Given the description of an element on the screen output the (x, y) to click on. 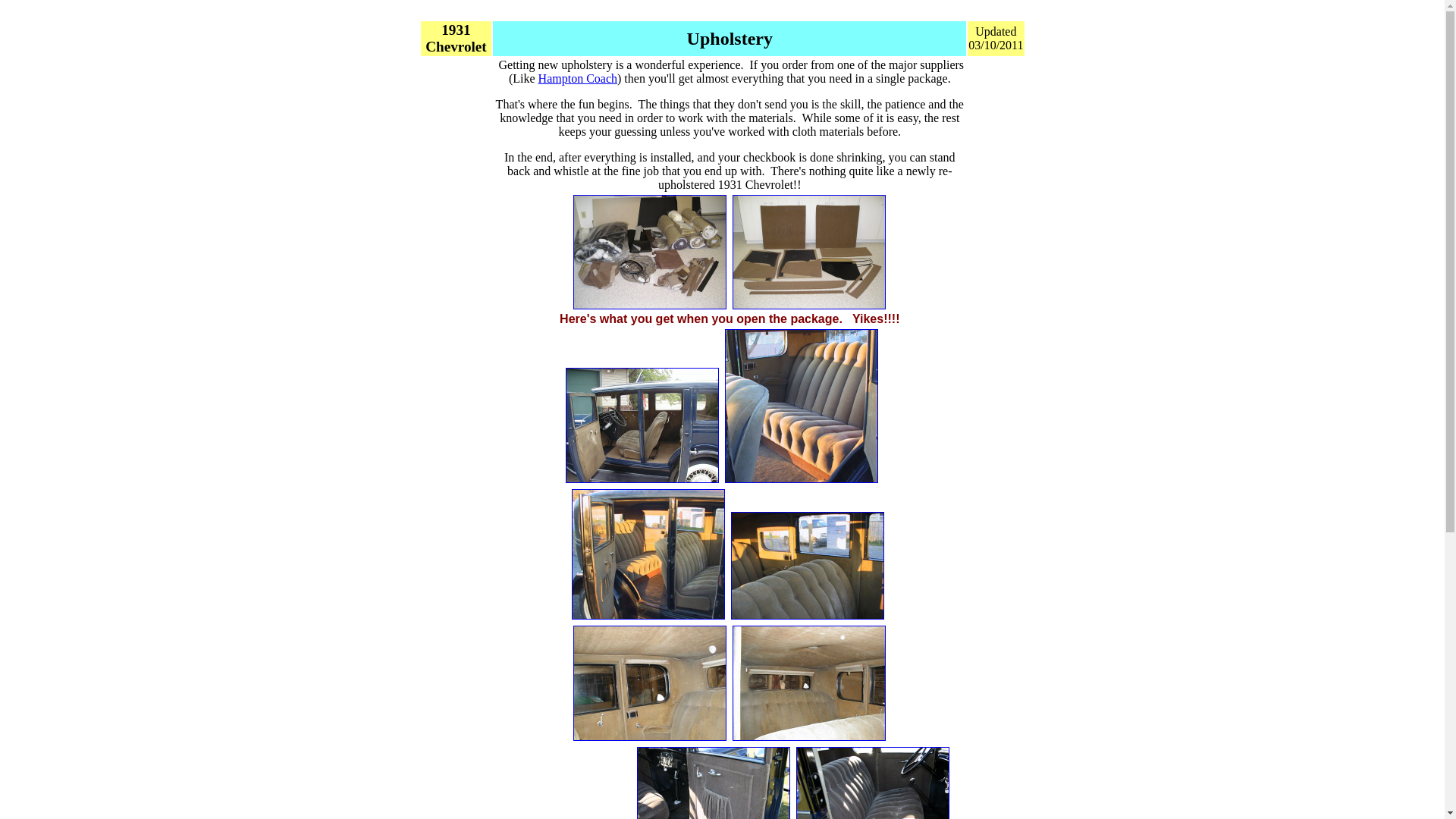
Hampton Coach Element type: text (577, 78)
